Given the description of an element on the screen output the (x, y) to click on. 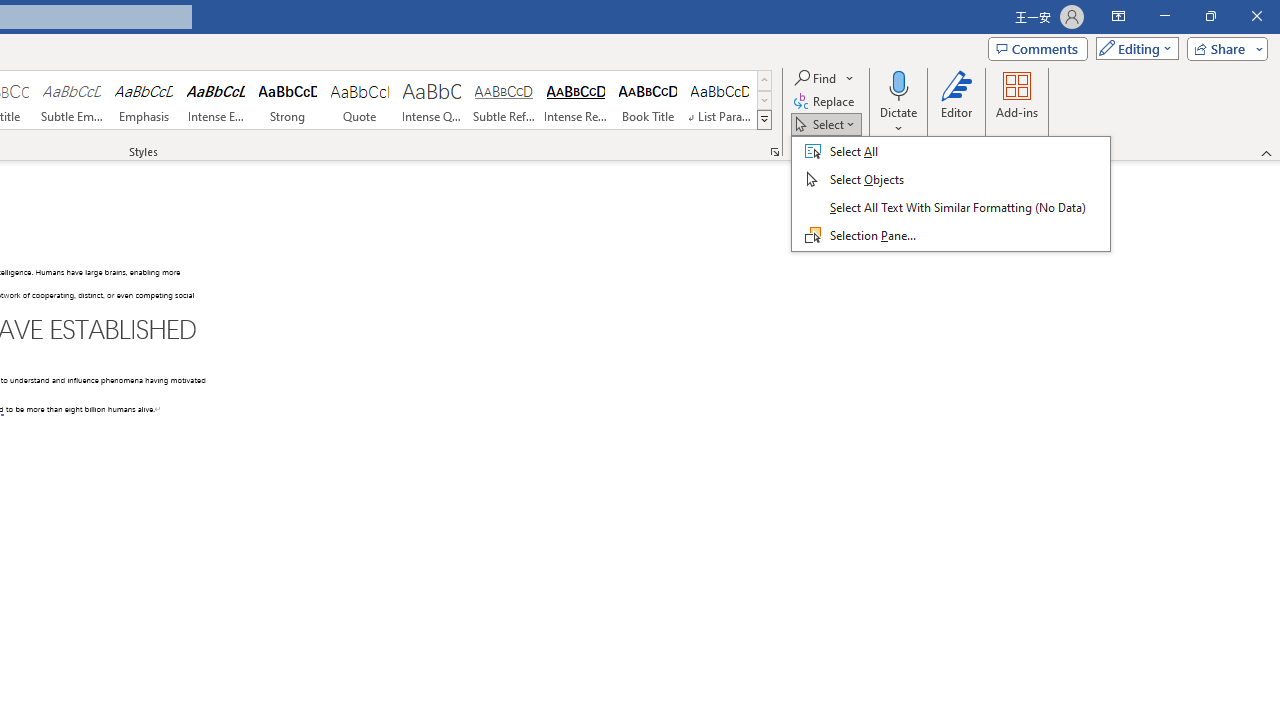
&Select (951, 193)
